Given the description of an element on the screen output the (x, y) to click on. 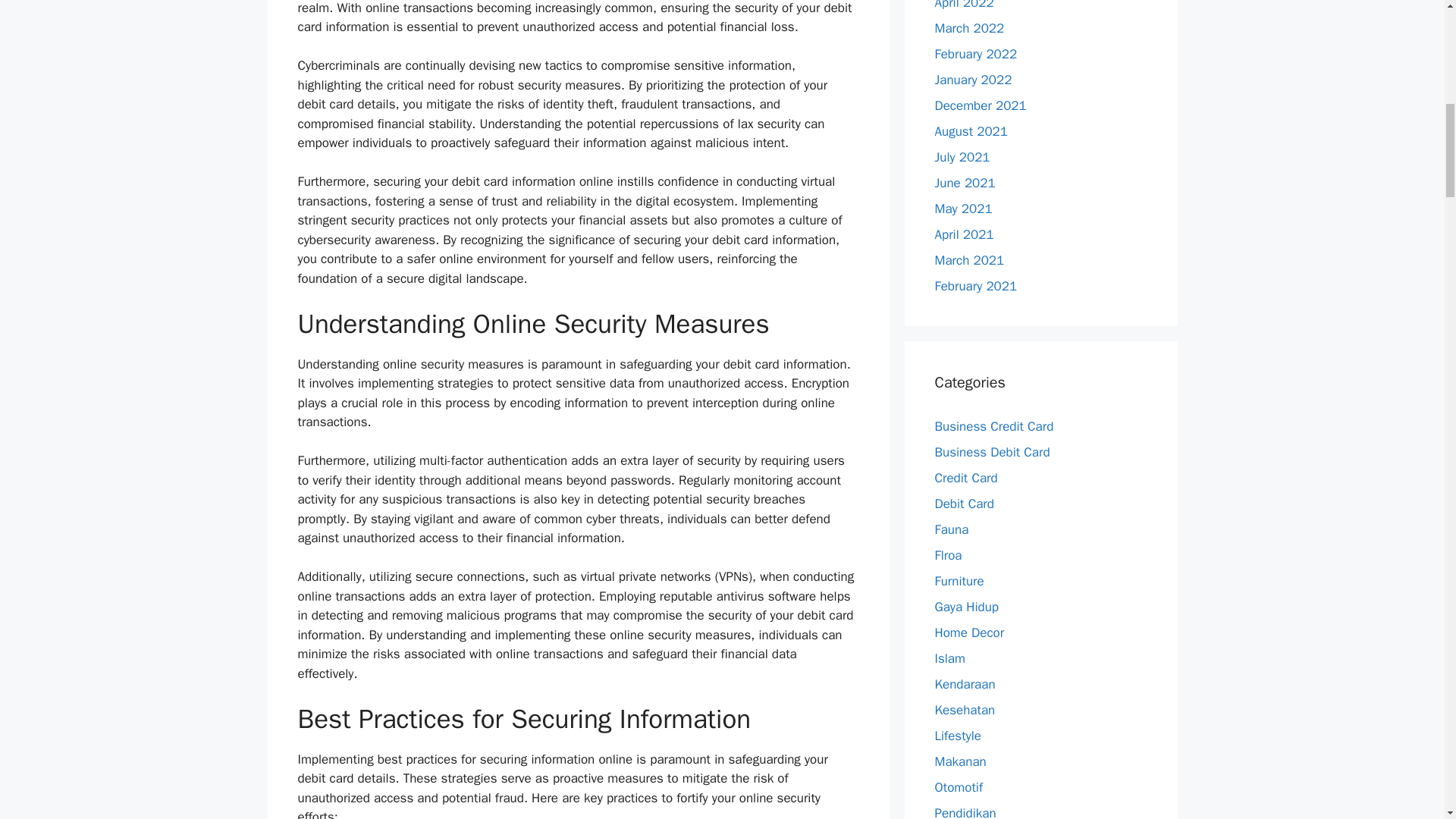
February 2022 (975, 53)
March 2022 (969, 27)
April 2022 (963, 4)
